Given the description of an element on the screen output the (x, y) to click on. 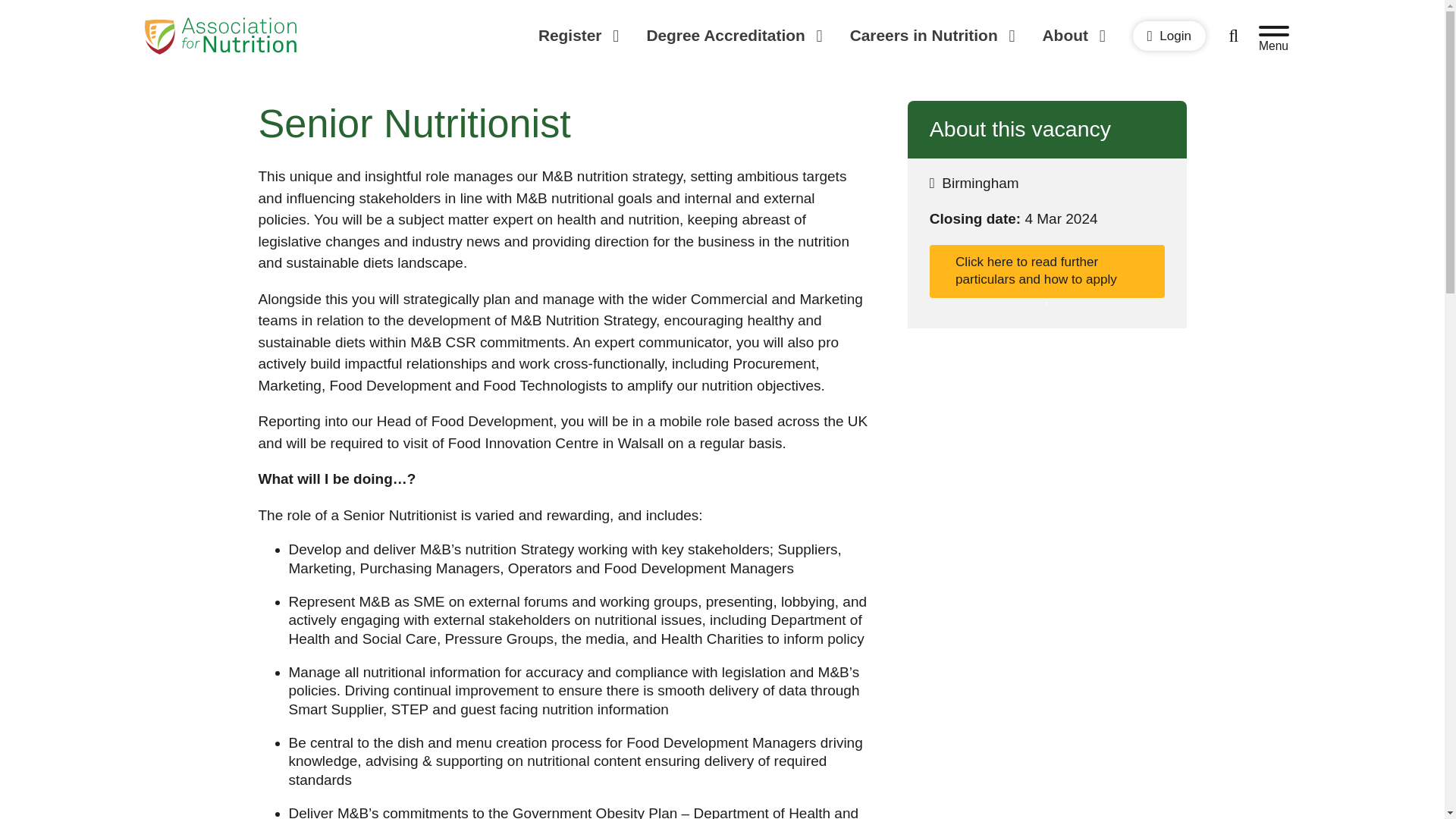
Register (577, 35)
Careers in Nutrition (931, 35)
Degree Accreditation (733, 35)
Location (1047, 183)
Closing date (1047, 219)
